Given the description of an element on the screen output the (x, y) to click on. 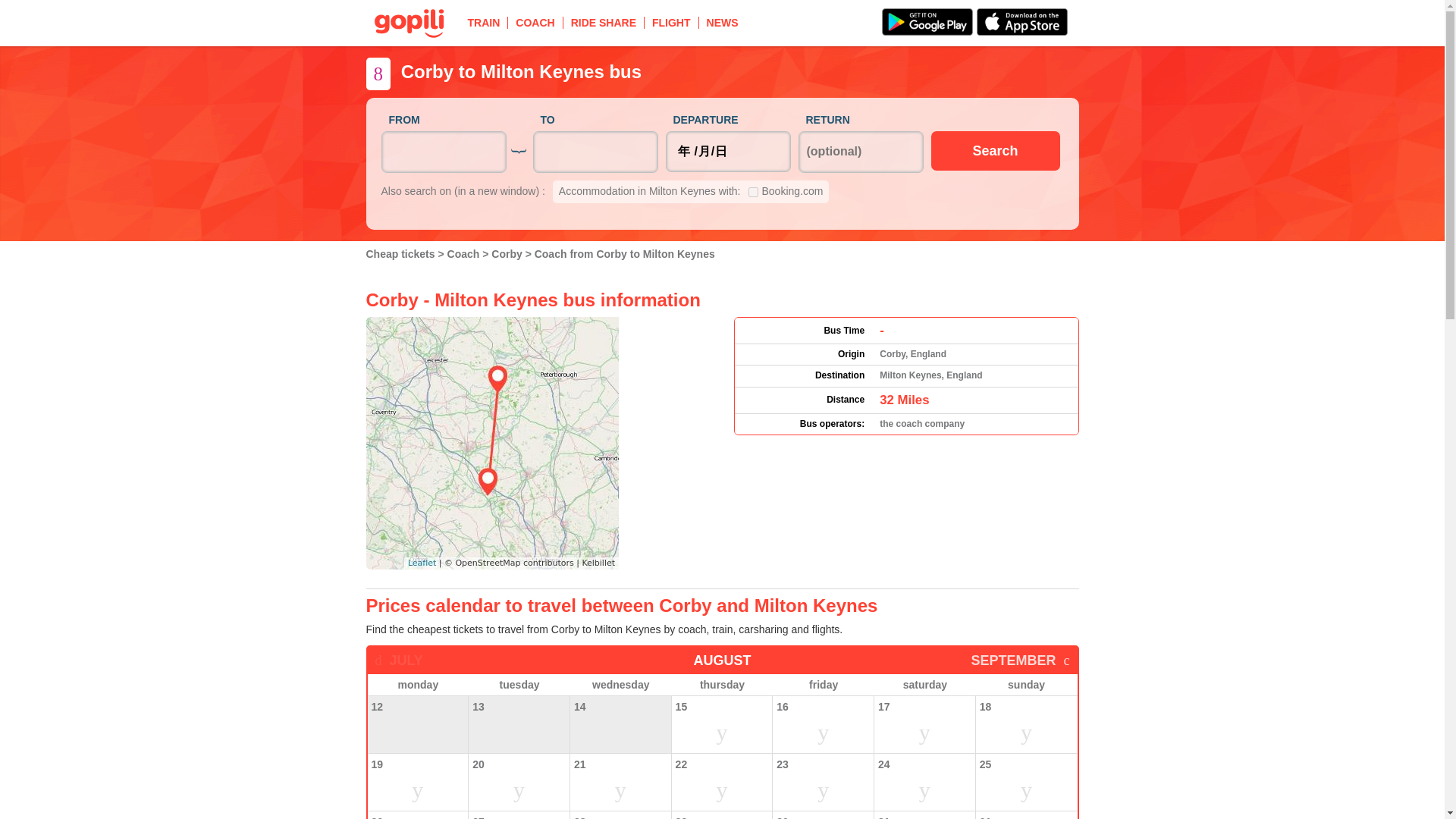
SEPTEMBER   (1019, 660)
135 (752, 192)
RIDE SHARE (604, 22)
NEWS (721, 22)
Coach from Corby to Milton Keynes (624, 254)
FLIGHT (671, 22)
Corby (508, 254)
Search (995, 150)
Coach (464, 254)
Cheap tickets (401, 254)
